Given the description of an element on the screen output the (x, y) to click on. 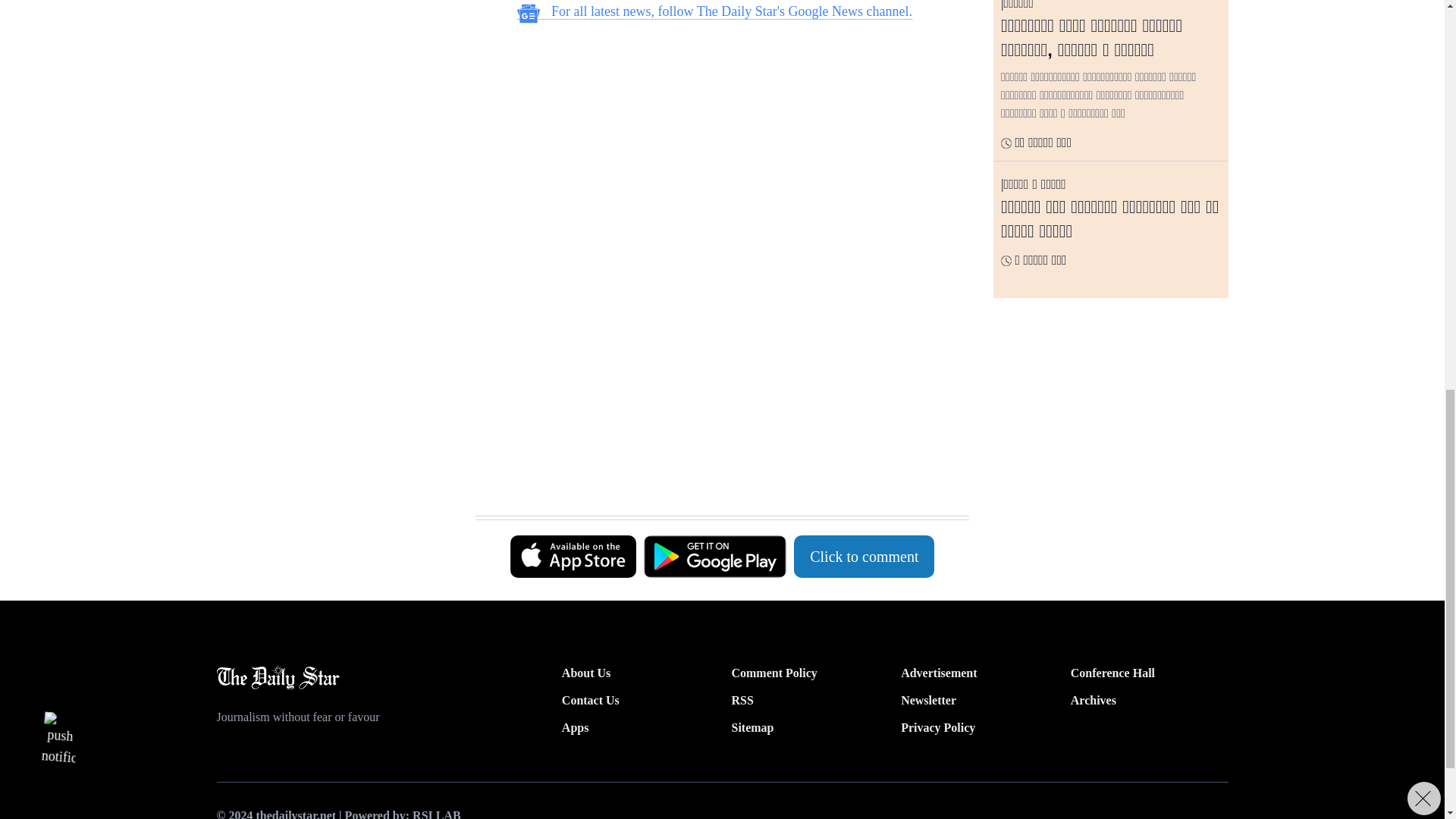
3rd party ad content (332, 103)
3rd party ad content (713, 132)
3rd party ad content (713, 337)
3rd party ad content (714, 477)
